Given the description of an element on the screen output the (x, y) to click on. 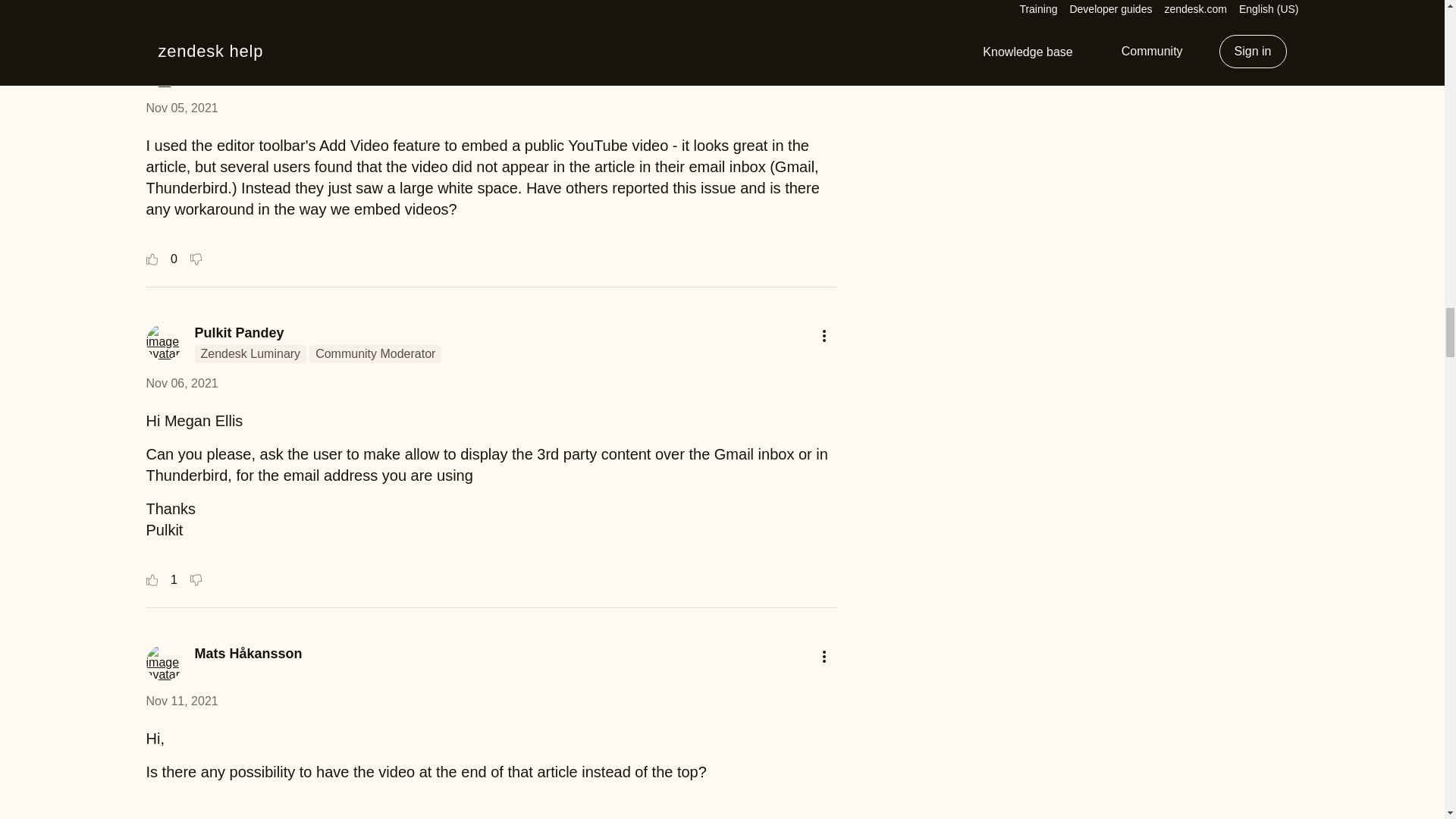
Nov 05, 2021 (180, 107)
Nov 11, 2021 (180, 700)
Nov 06, 2021 (180, 382)
This user is a member of the Zendesk Luminaries program (249, 353)
